Given the description of an element on the screen output the (x, y) to click on. 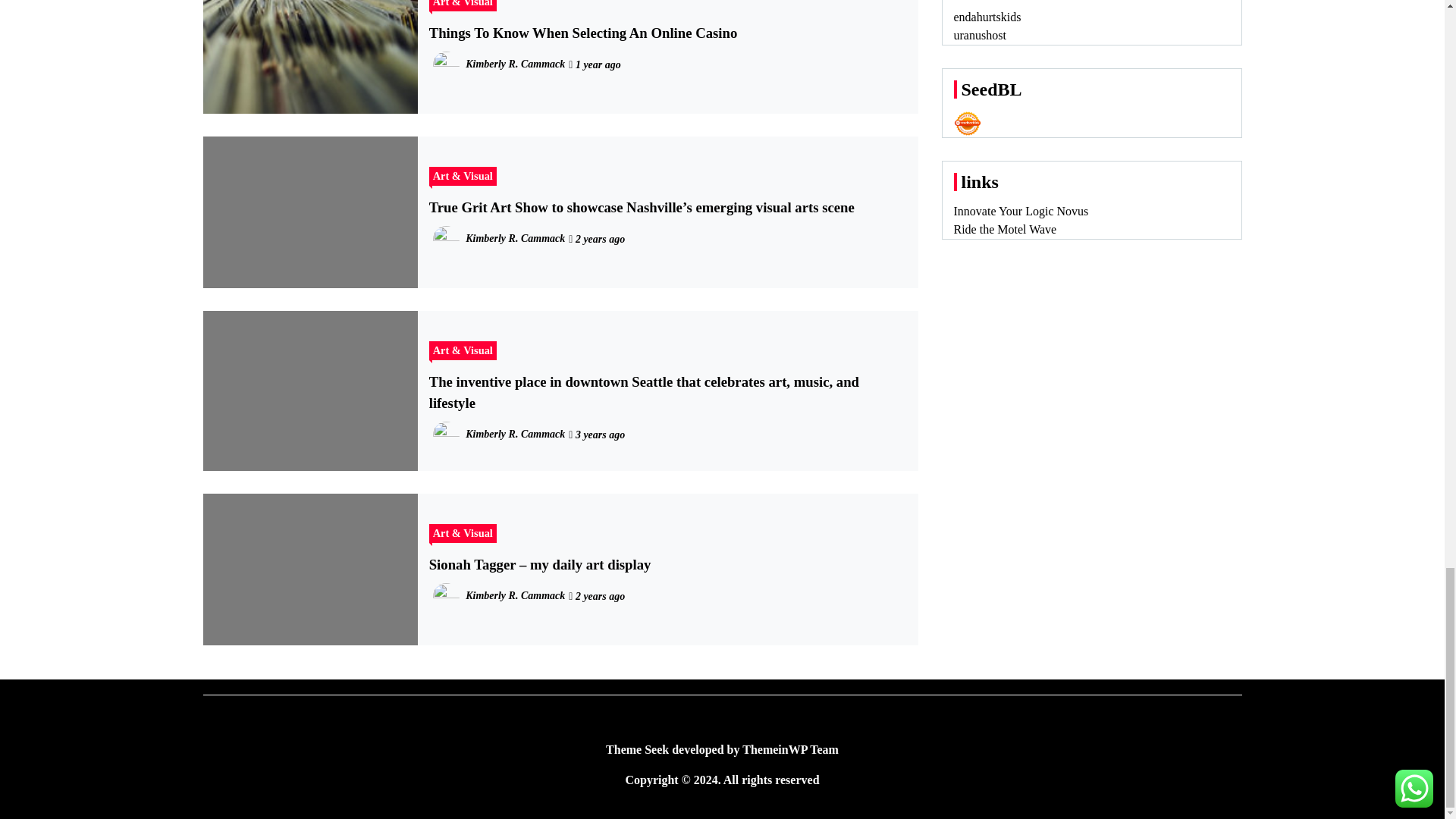
Seedbacklink (967, 123)
